Given the description of an element on the screen output the (x, y) to click on. 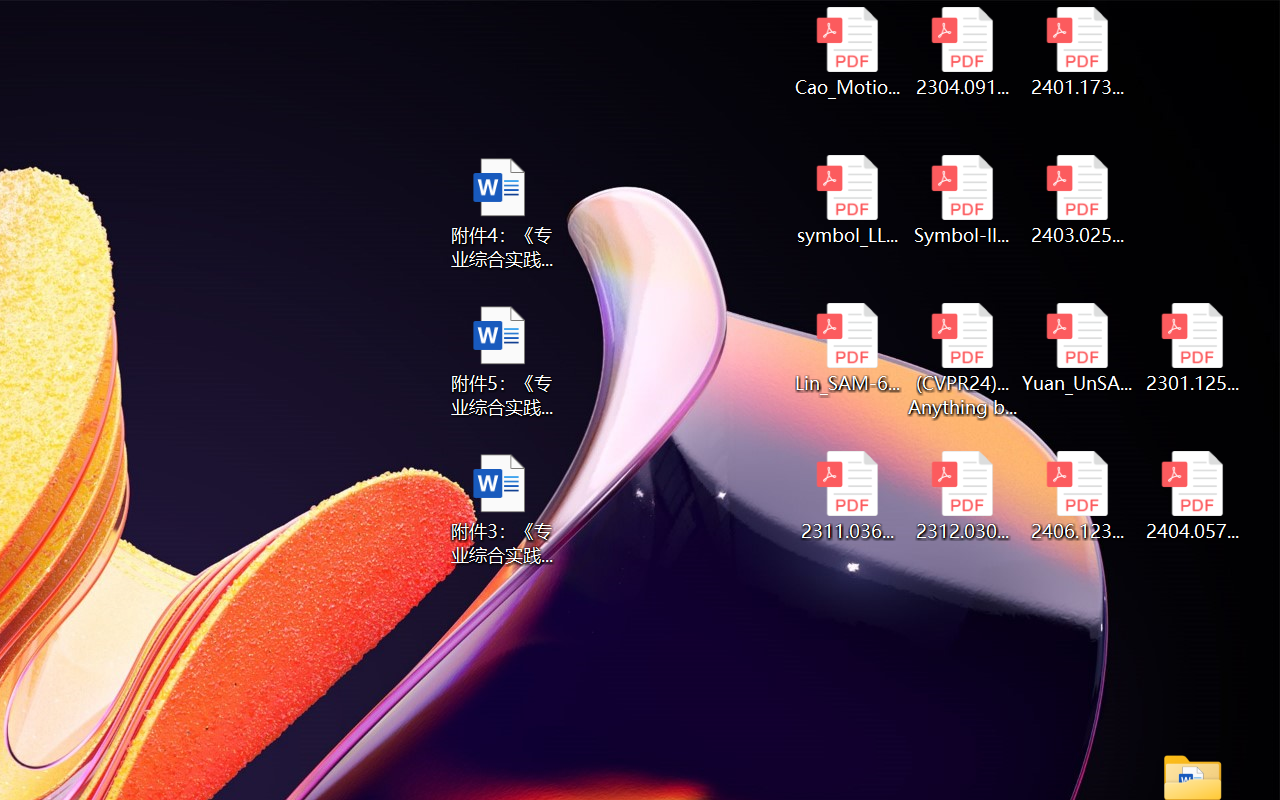
2311.03658v2.pdf (846, 496)
